Given the description of an element on the screen output the (x, y) to click on. 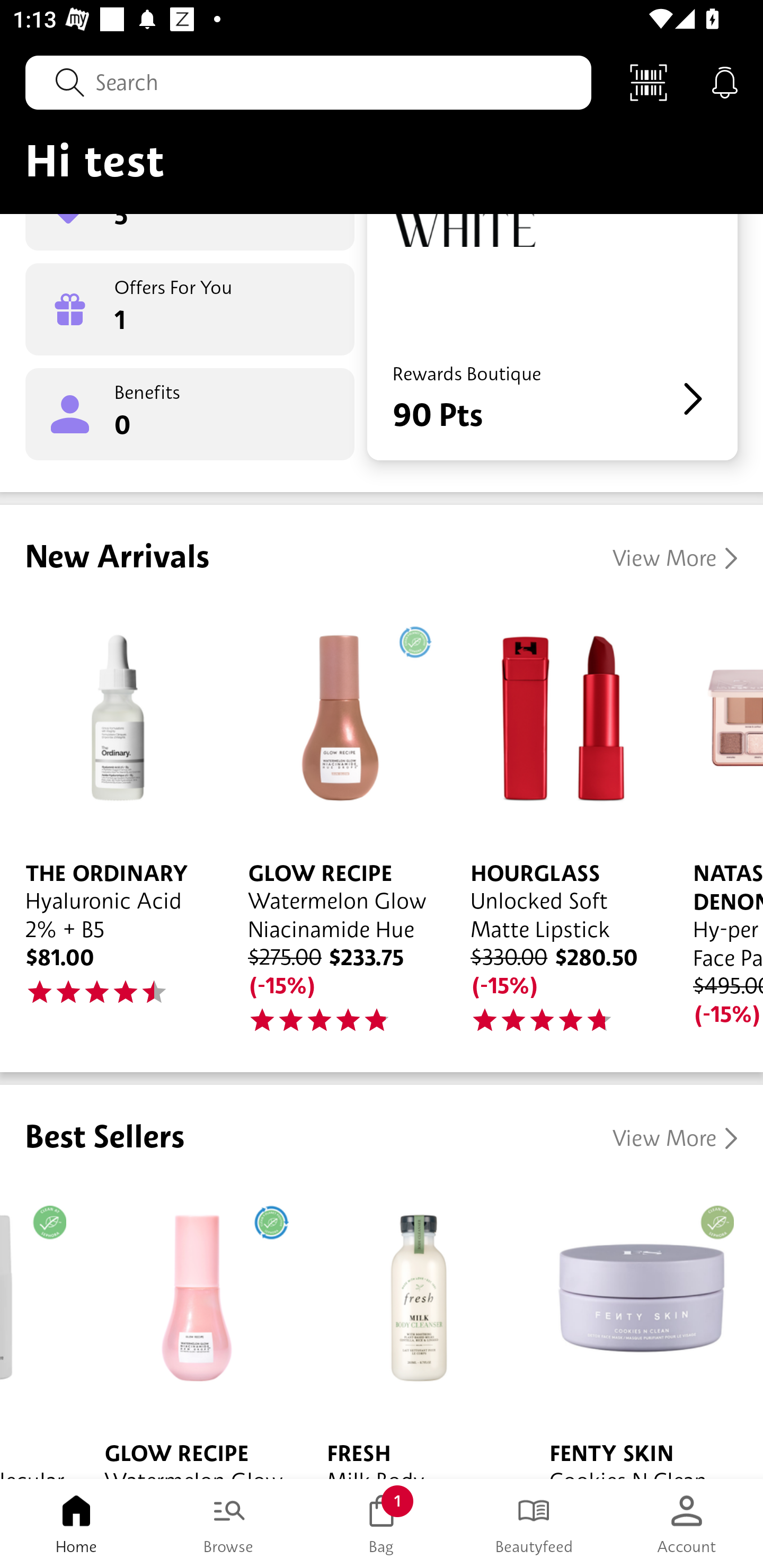
Scan Code (648, 81)
Notifications (724, 81)
Search (308, 81)
Rewards Boutique 90 Pts (552, 336)
Offers For You 1 (189, 309)
Benefits 0 (189, 414)
View More (674, 558)
THE ORDINARY Hyaluronic Acid 2% + B5 $81.00 45.0 (111, 817)
View More (674, 1138)
FRESH Milk Body Cleanser (412, 1330)
Browse (228, 1523)
Bag 1 Bag (381, 1523)
Beautyfeed (533, 1523)
Account (686, 1523)
